Given the description of an element on the screen output the (x, y) to click on. 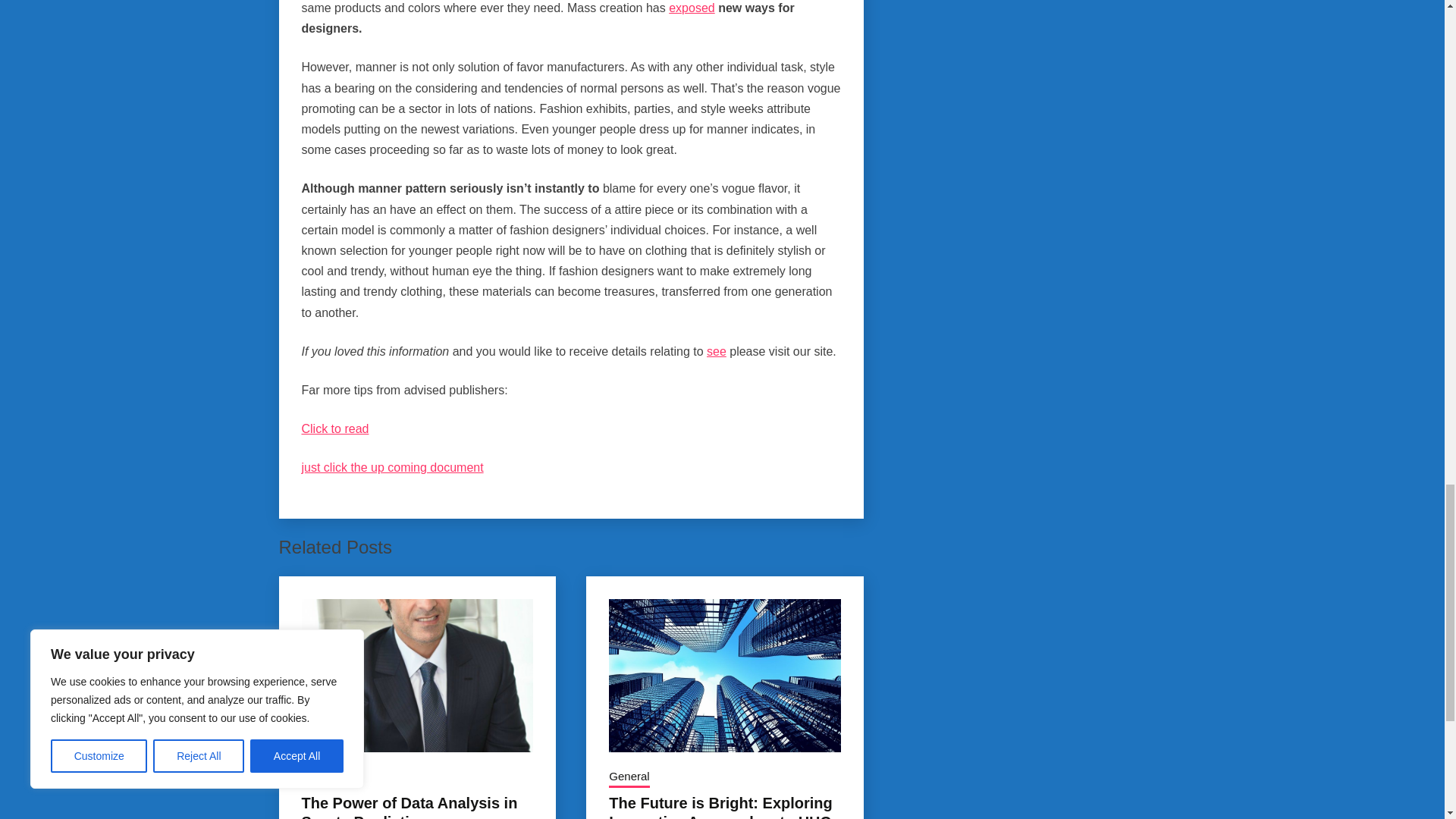
General (321, 777)
exposed (691, 7)
Click to read (335, 428)
see (716, 350)
just click the up coming document (392, 467)
The Power of Data Analysis in Sports Predictions (409, 806)
